Given the description of an element on the screen output the (x, y) to click on. 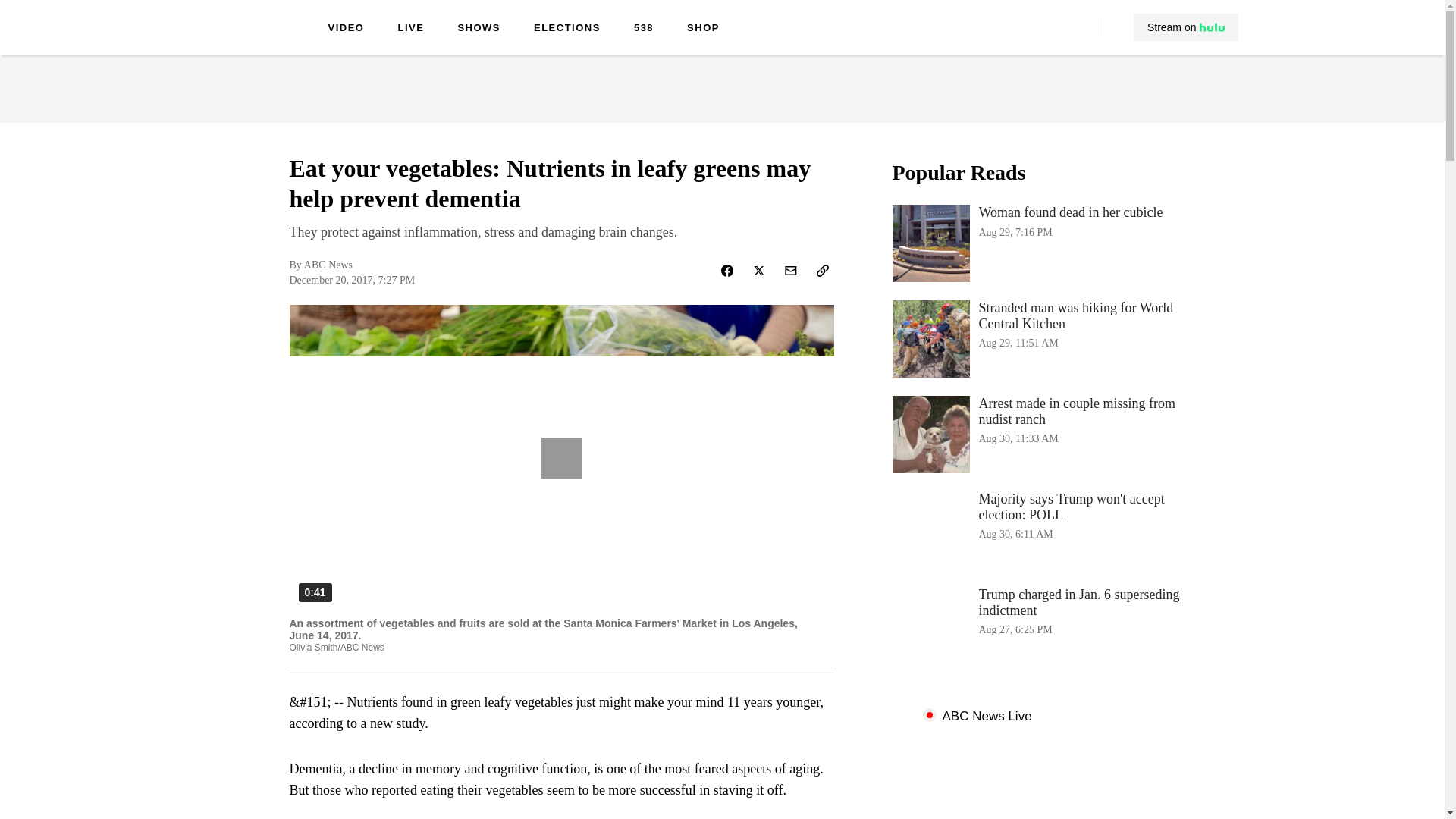
Stream on (1185, 27)
VIDEO (1043, 242)
SHOWS (345, 28)
ELECTIONS (478, 28)
538 (566, 28)
SHOP (643, 28)
